Given the description of an element on the screen output the (x, y) to click on. 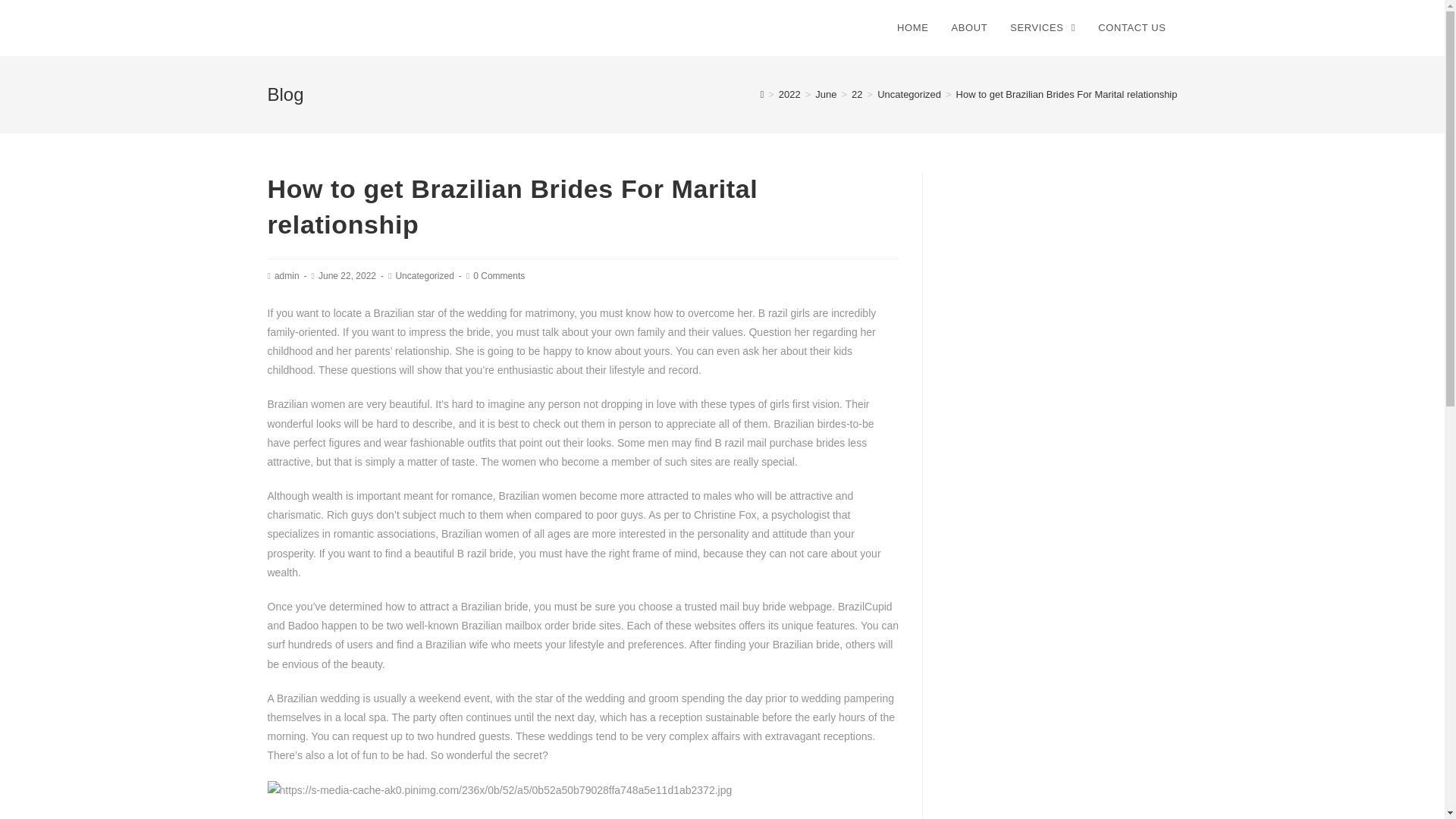
CONTACT US (1131, 28)
admin (287, 276)
How to get Brazilian Brides For Marital relationship (1066, 93)
SERVICES (1042, 28)
22 (856, 93)
Posts by admin (287, 276)
June (825, 93)
ABOUT (969, 28)
2022 (789, 93)
HOME (912, 28)
Uncategorized (423, 276)
0 Comments (498, 276)
Uncategorized (908, 93)
